Given the description of an element on the screen output the (x, y) to click on. 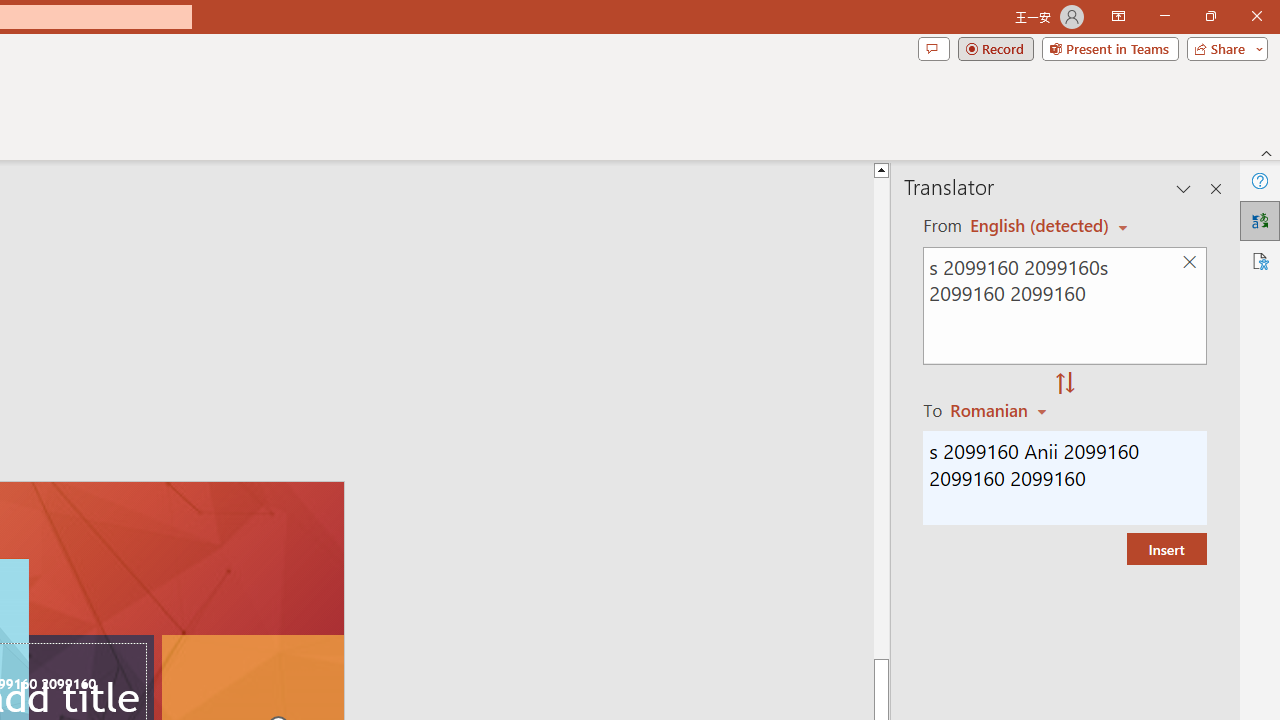
Romanian (1001, 409)
Close pane (1215, 188)
Page up (1230, 417)
Close (1256, 16)
Insert (1166, 548)
Accessibility (1260, 260)
Comments (933, 48)
Task Pane Options (1183, 188)
Minimize (1164, 16)
Clear text (1189, 262)
Swap "from" and "to" languages. (1065, 383)
Restore Down (1210, 16)
